Given the description of an element on the screen output the (x, y) to click on. 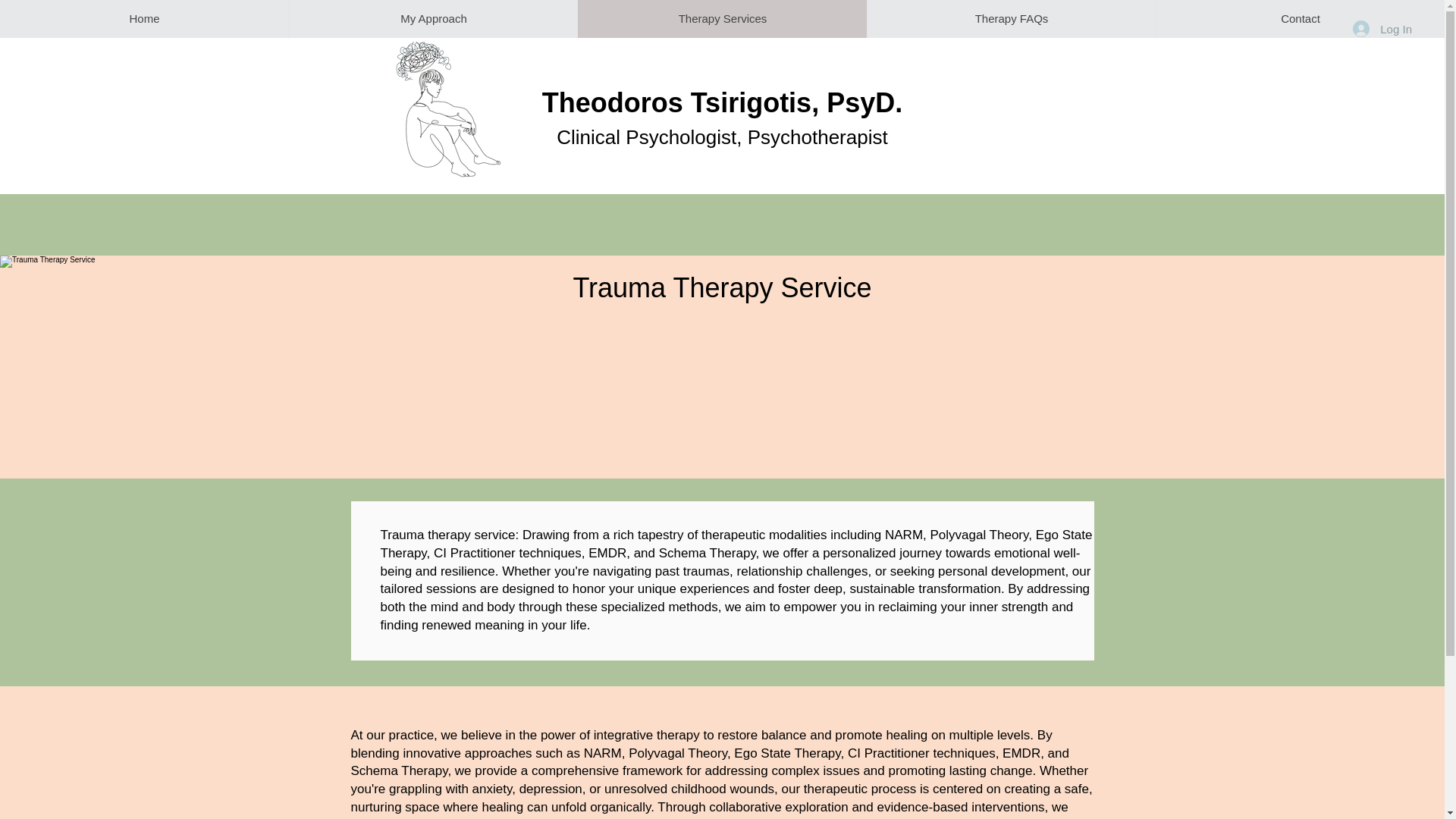
Therapy FAQs (1011, 18)
Log In (1382, 28)
Therapy Services (722, 18)
Home (144, 18)
My Approach (433, 18)
